Given the description of an element on the screen output the (x, y) to click on. 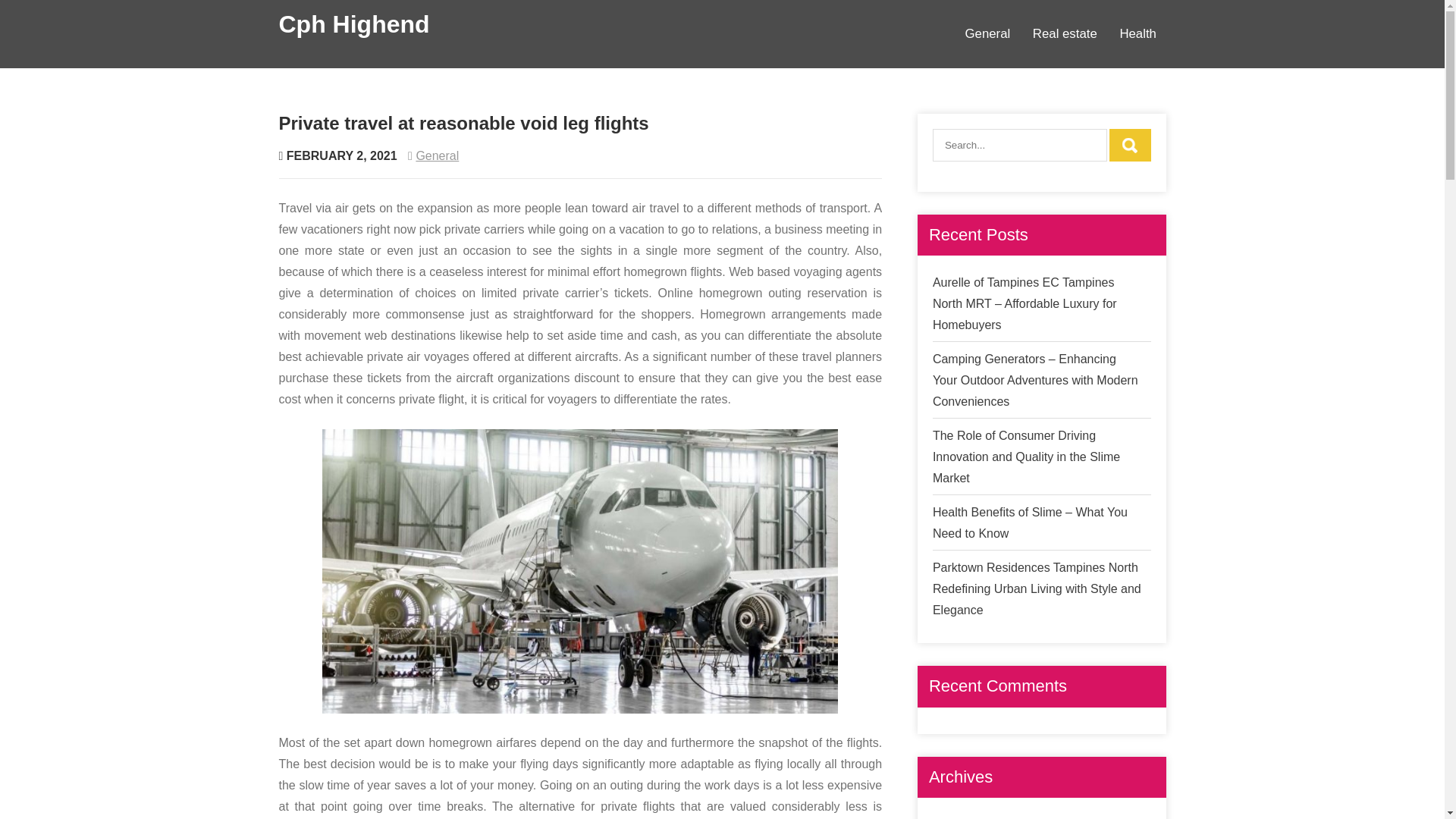
Search (1130, 144)
July 2024 (959, 818)
General (987, 33)
Real estate (1064, 33)
Search (1130, 144)
Cph Highend (354, 23)
Search (1130, 144)
General (436, 155)
